Given the description of an element on the screen output the (x, y) to click on. 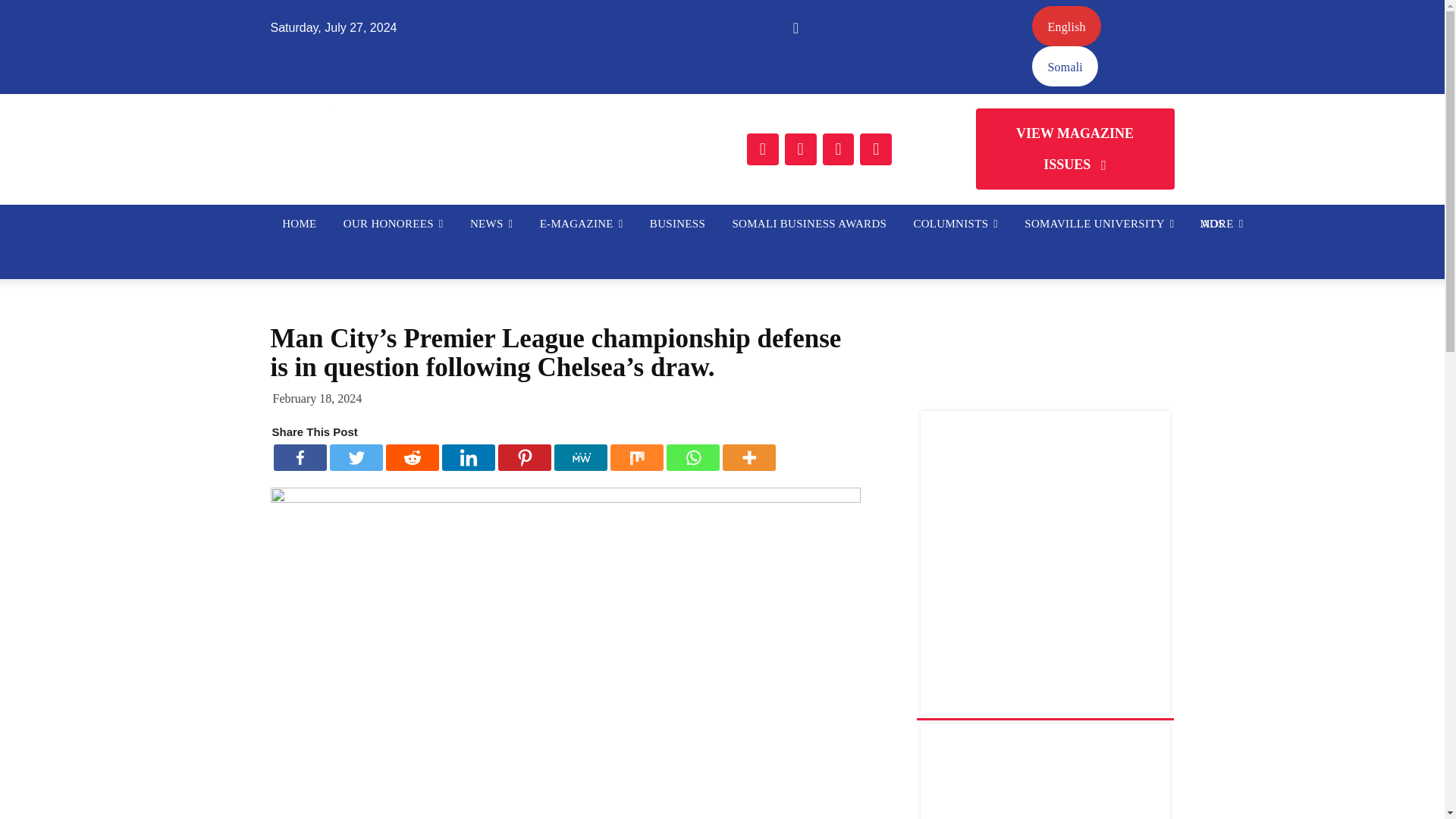
Somali (1064, 65)
Youtube (875, 149)
Twitter (837, 149)
Instagram (800, 149)
View magazine Issues (1074, 148)
English (1066, 25)
Facebook (299, 457)
Facebook (762, 149)
Twitter (355, 457)
